Given the description of an element on the screen output the (x, y) to click on. 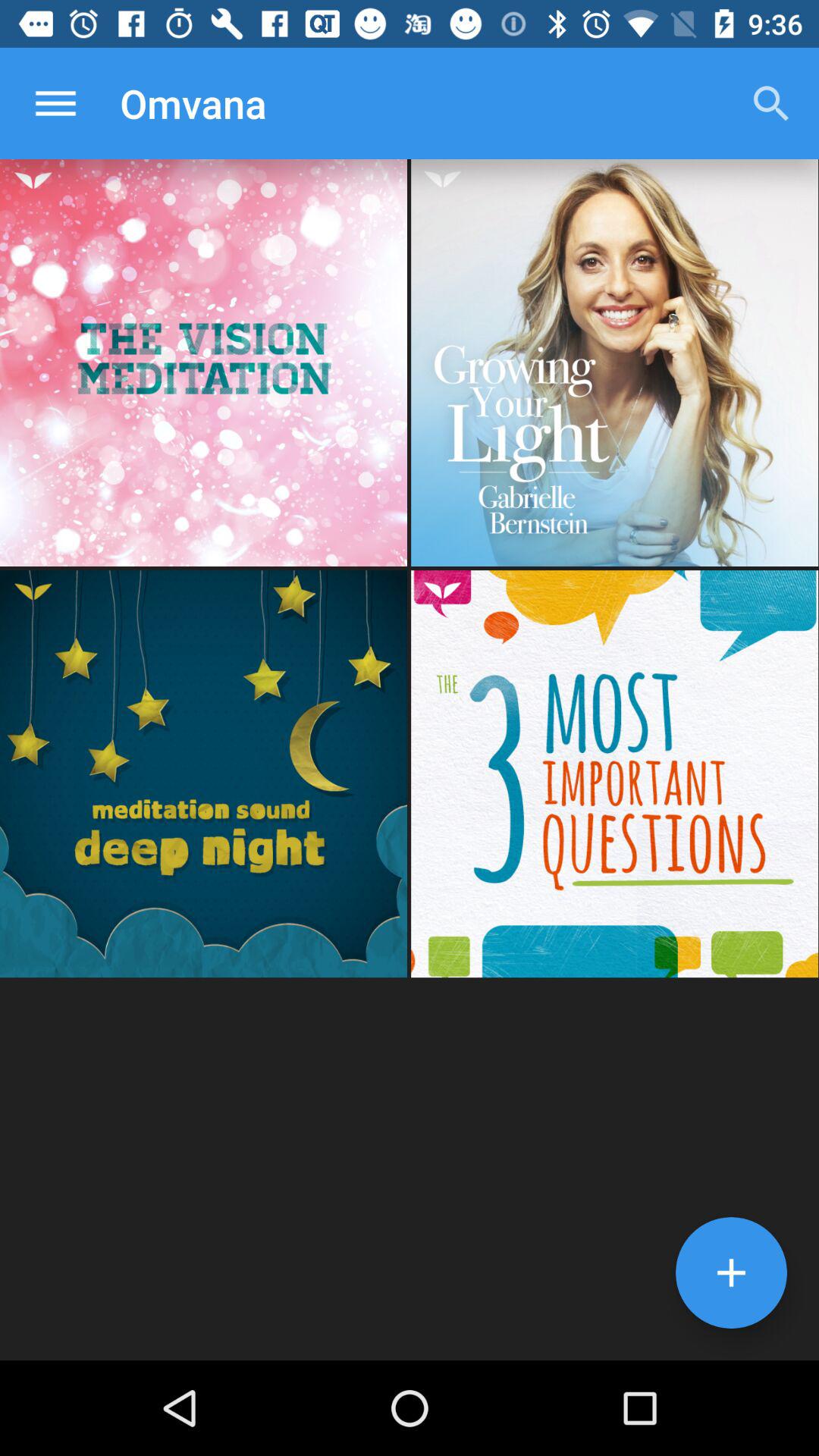
select the last right side image (614, 773)
click on growing your light gabrielle bernstein image option (614, 362)
select the icon which is at the top right of the page (771, 103)
select the picture is the second line which is at the right side of the page (614, 773)
select a add button which is on the bottom right corner of page (731, 1273)
